Given the description of an element on the screen output the (x, y) to click on. 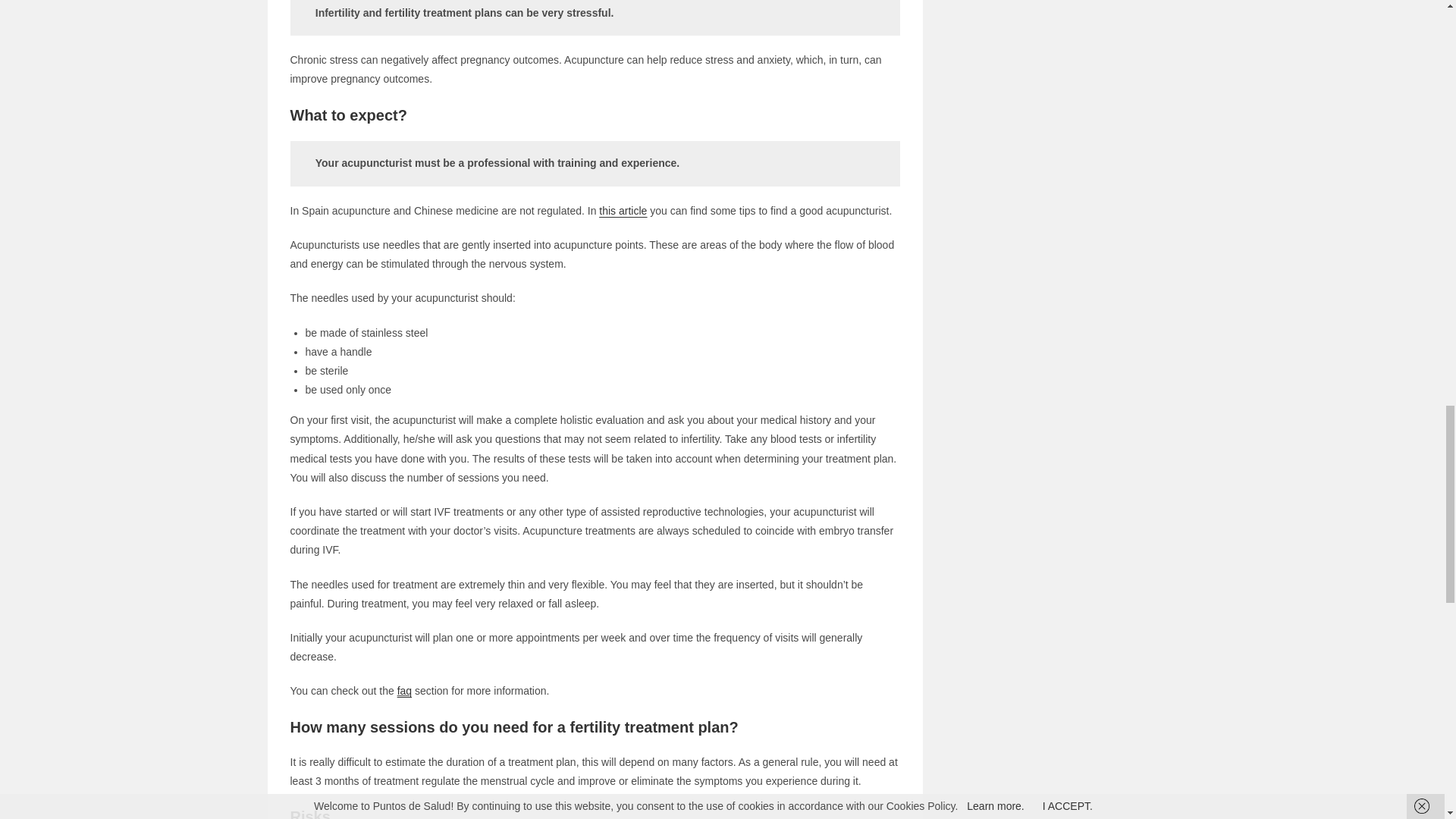
faq (404, 690)
this article (622, 210)
